Given the description of an element on the screen output the (x, y) to click on. 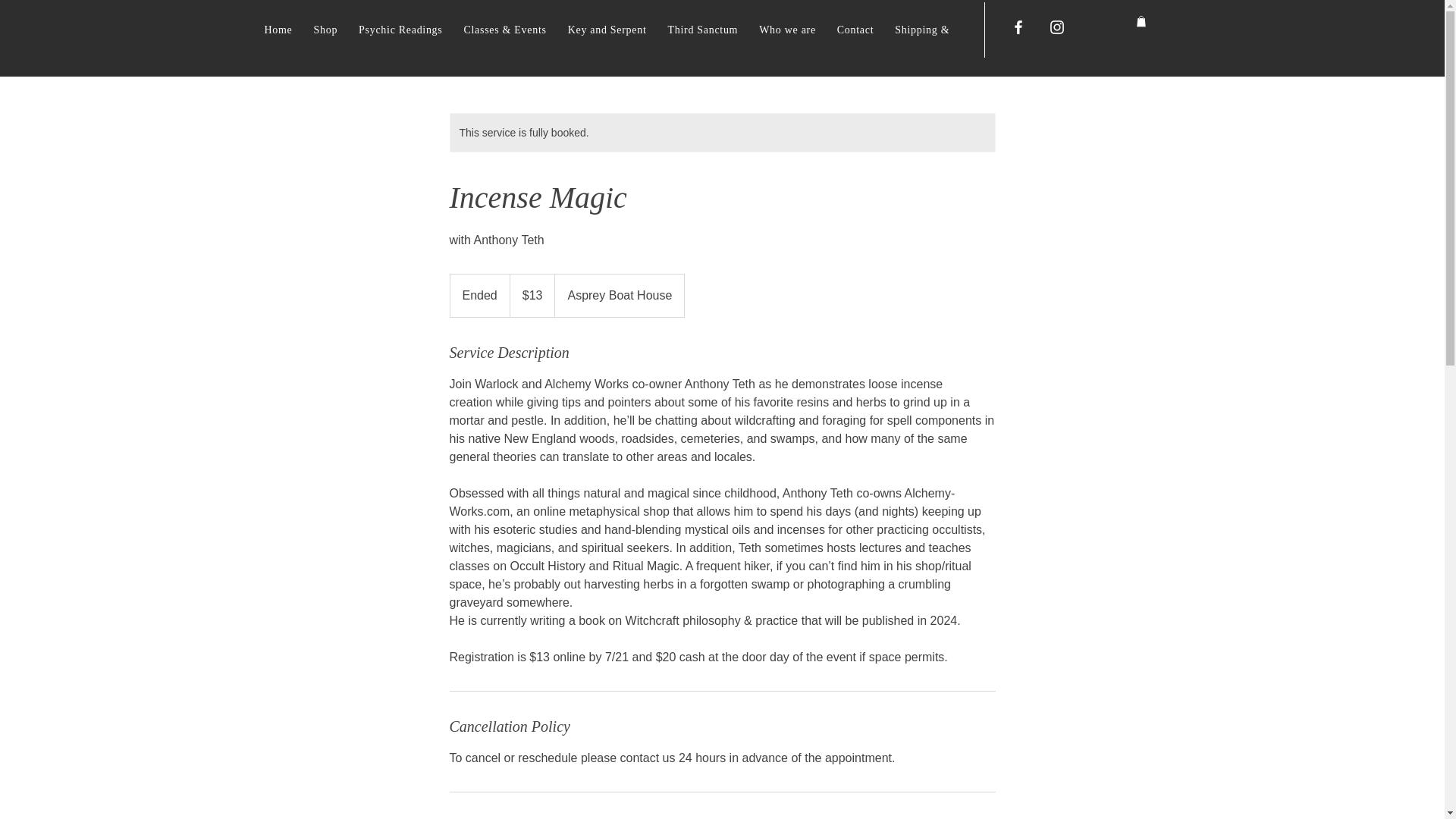
Contact (854, 29)
Psychic Readings (399, 29)
Who we are (787, 29)
Key and Serpent (606, 29)
Home (277, 29)
Third Sanctum (702, 29)
Shop (325, 29)
